Given the description of an element on the screen output the (x, y) to click on. 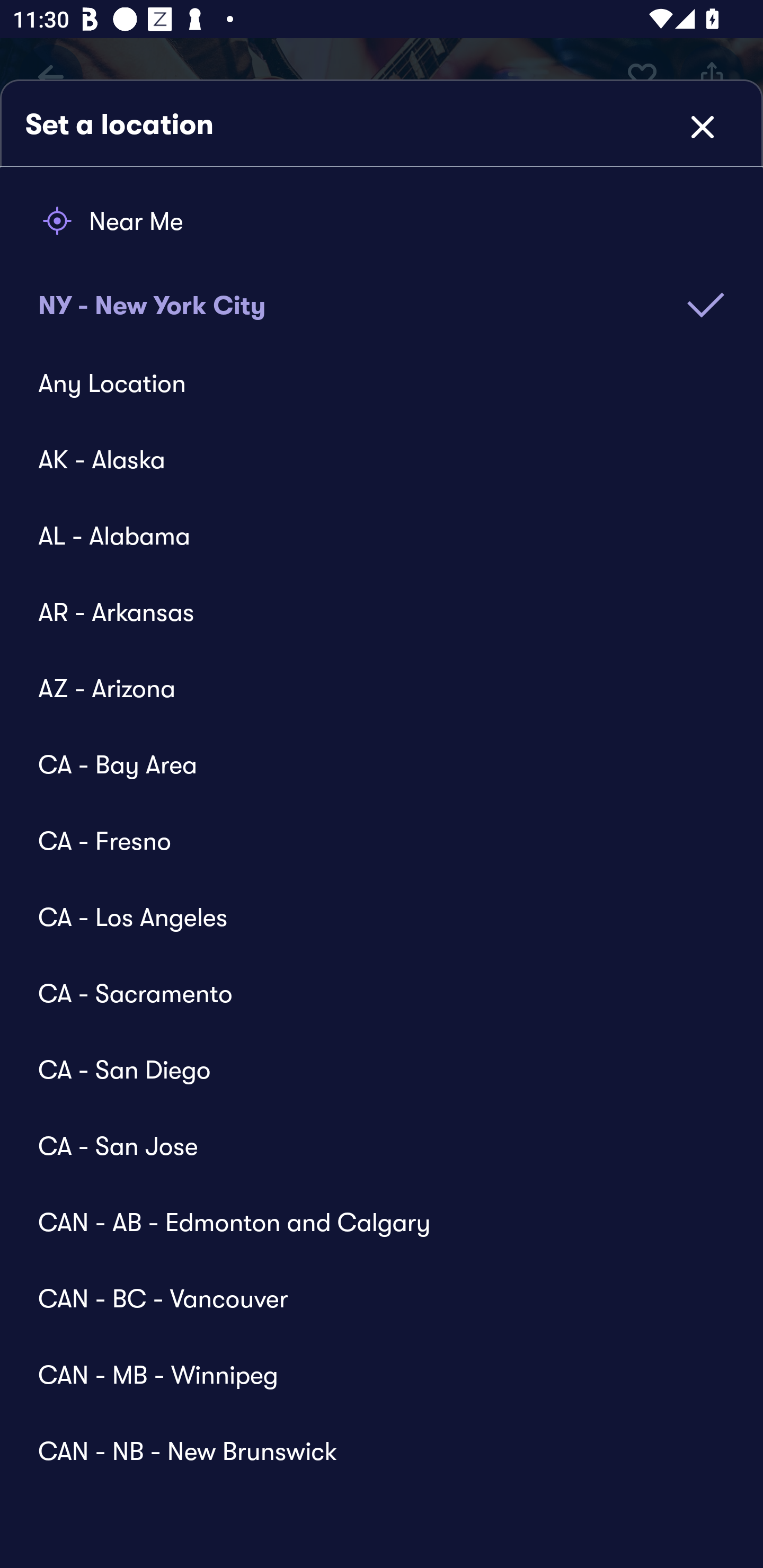
Near Me (381, 220)
NY - New York City (381, 292)
Any Location (368, 382)
AK - Alaska (368, 459)
AL - Alabama (368, 535)
AR - Arkansas (368, 611)
AZ - Arizona (368, 687)
CA - Bay Area (368, 763)
CA - Fresno (368, 840)
CA - Los Angeles (368, 916)
CA - Sacramento (368, 992)
CA - San Diego (368, 1069)
CA - San Jose (368, 1145)
CAN - AB - Edmonton and Calgary (368, 1221)
CAN - BC - Vancouver (368, 1297)
CAN - MB - Winnipeg (368, 1373)
CAN - NB - New Brunswick (368, 1440)
